Given the description of an element on the screen output the (x, y) to click on. 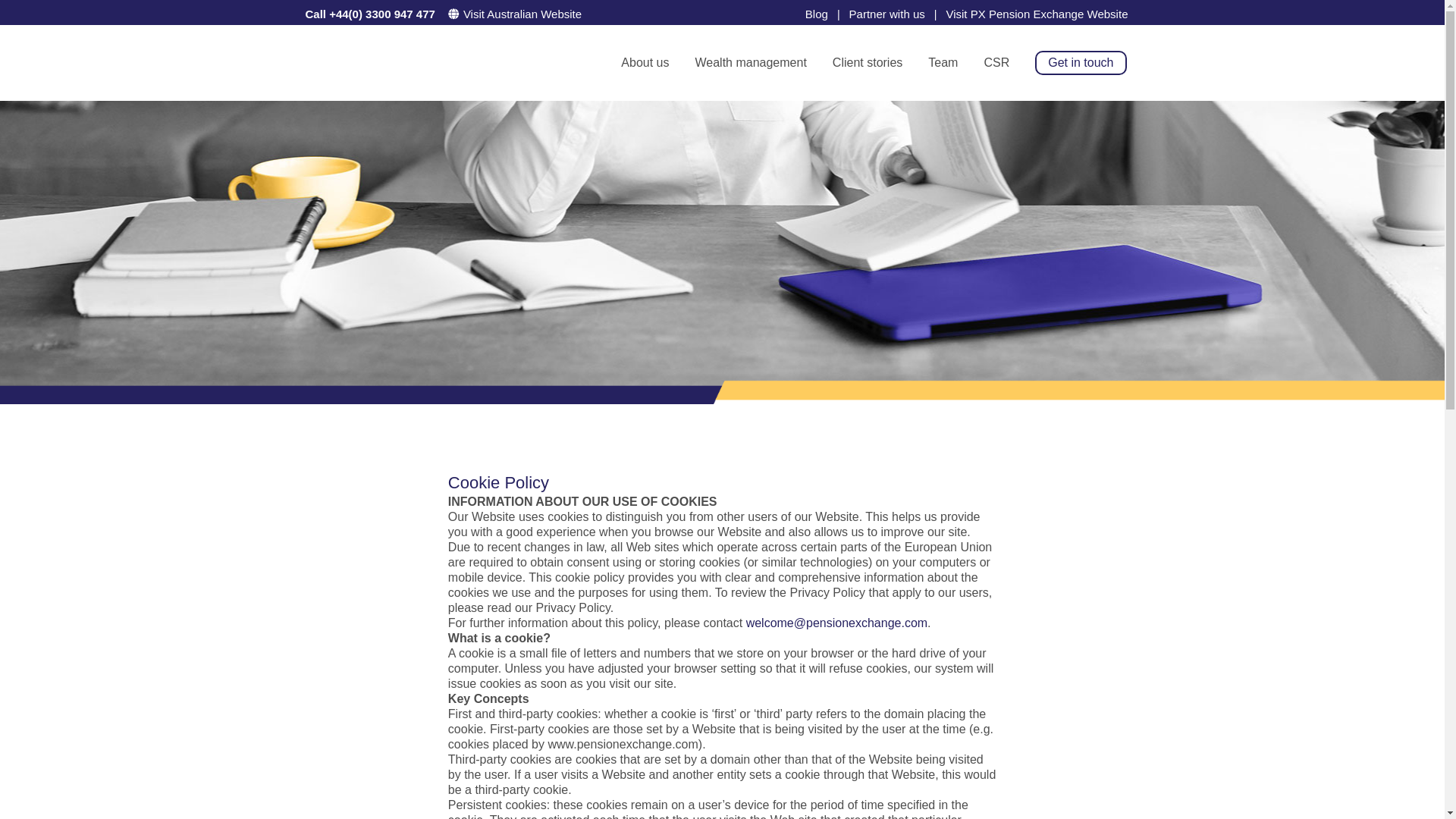
About us (644, 62)
Wealth management (749, 62)
Blog (816, 10)
Get in touch (1080, 62)
Client stories (867, 62)
Visit Australian Website (527, 13)
Partner with us (886, 10)
Visit PX Pension Exchange Website (1035, 10)
